Given the description of an element on the screen output the (x, y) to click on. 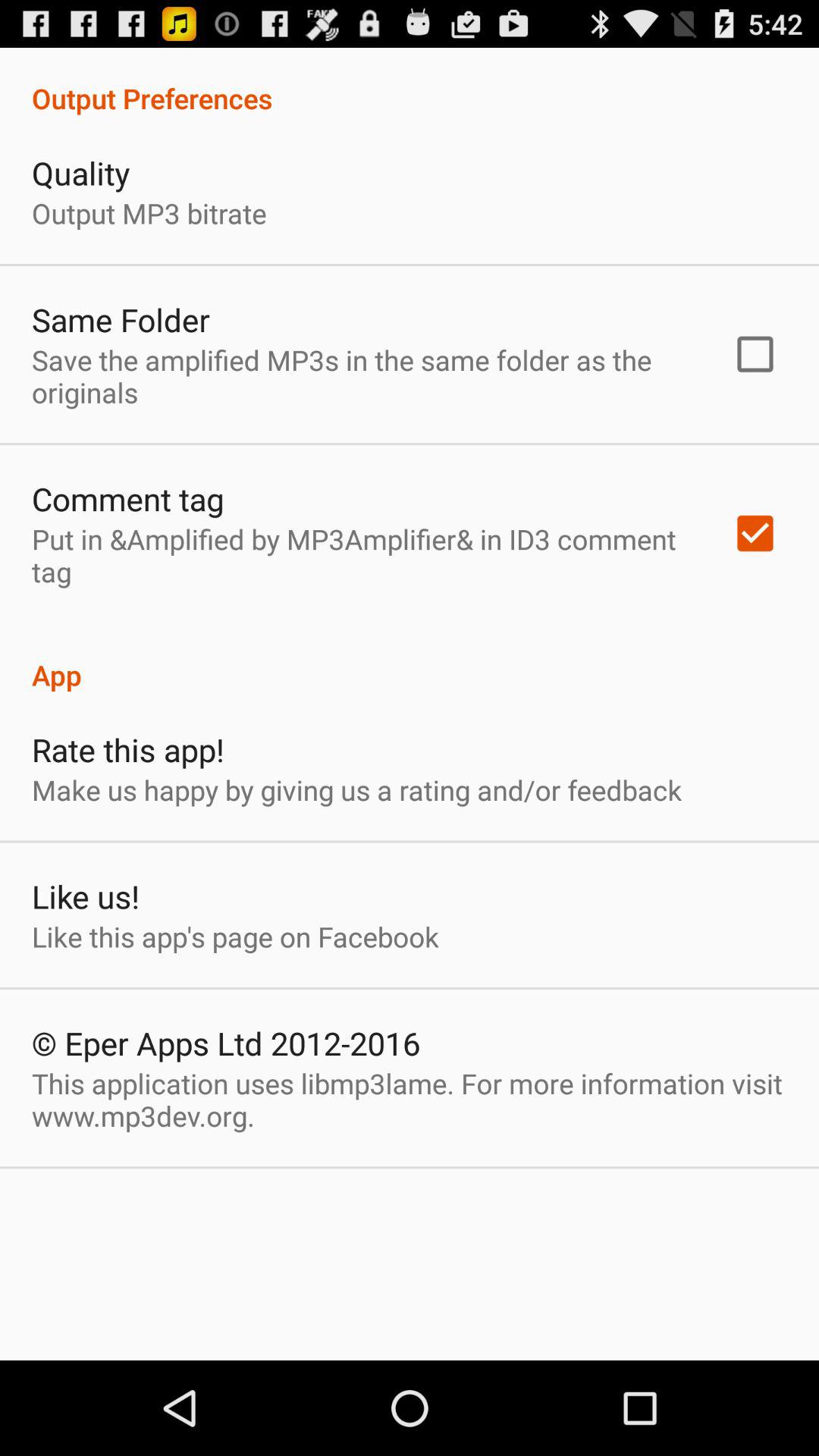
open the icon above same folder (148, 213)
